Given the description of an element on the screen output the (x, y) to click on. 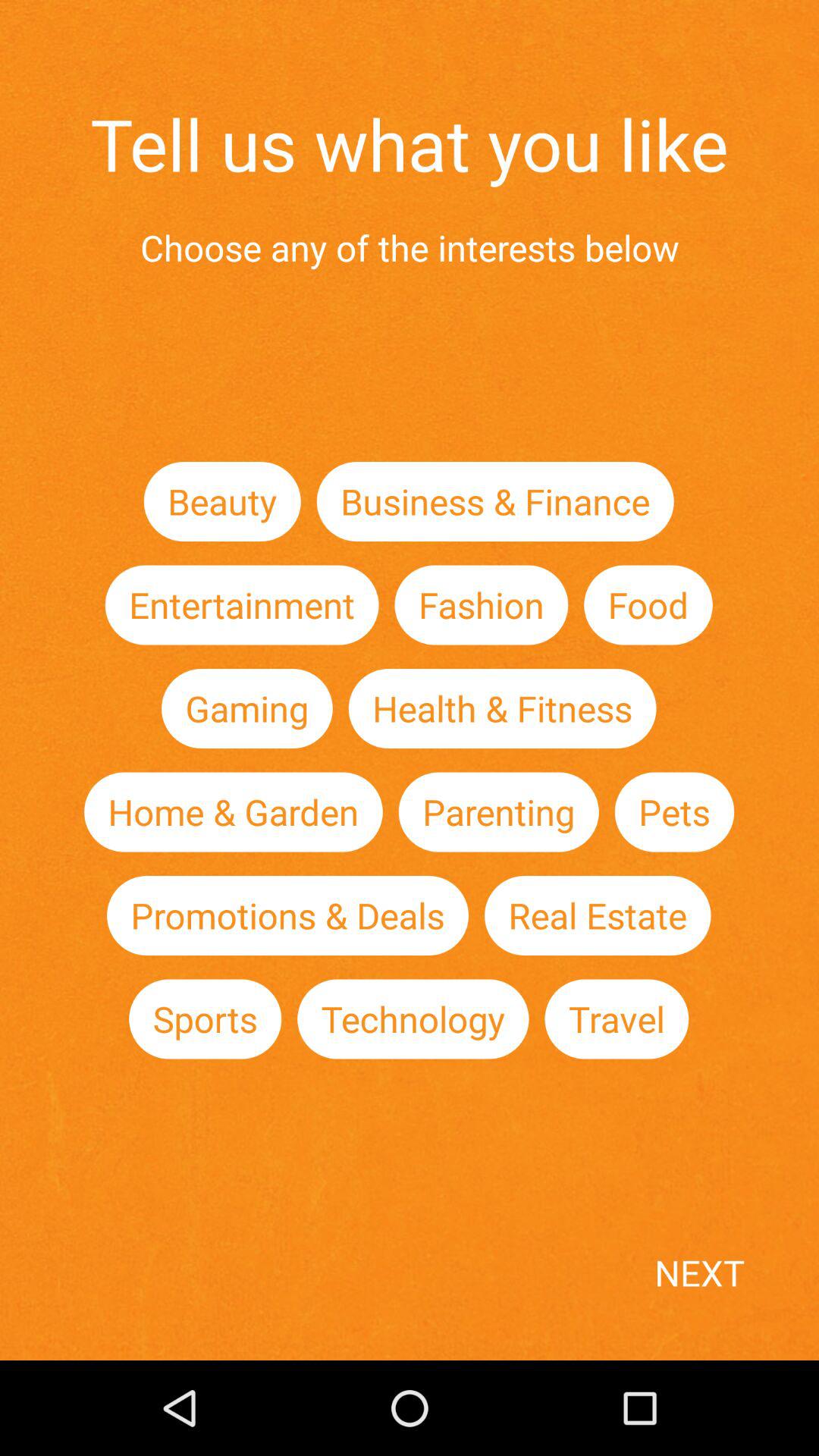
launch beauty icon (221, 501)
